Given the description of an element on the screen output the (x, y) to click on. 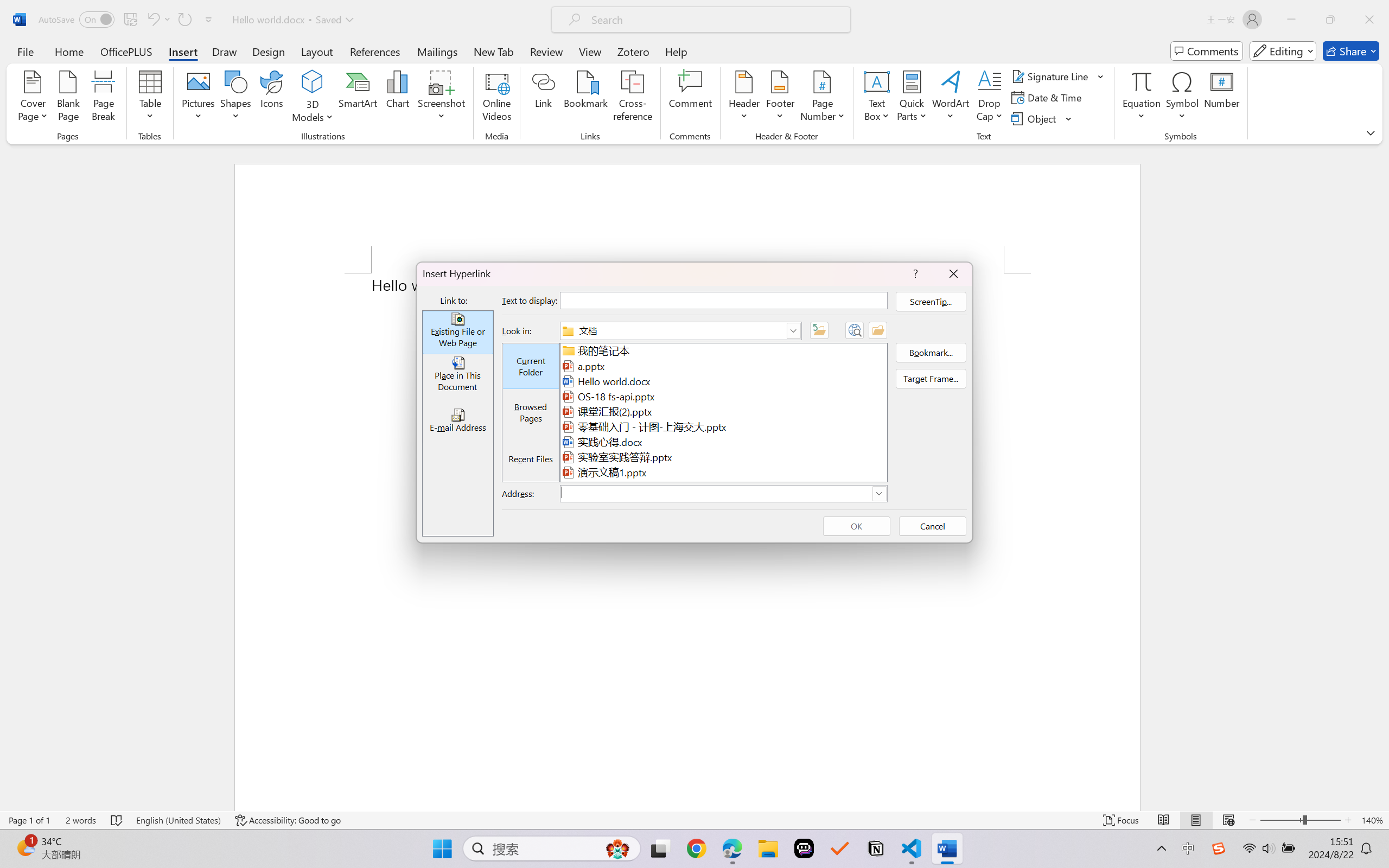
Signature Line (1051, 75)
RichEdit Control (716, 493)
Object... (1035, 118)
Accessibility Checker Accessibility: Good to go (288, 819)
WordArt (950, 97)
Insert (182, 51)
Existing File or Web Page (457, 332)
Link (543, 97)
MSO Generic Control Container (457, 376)
Comments (1206, 50)
Microsoft search (715, 19)
Object... (1042, 118)
